Given the description of an element on the screen output the (x, y) to click on. 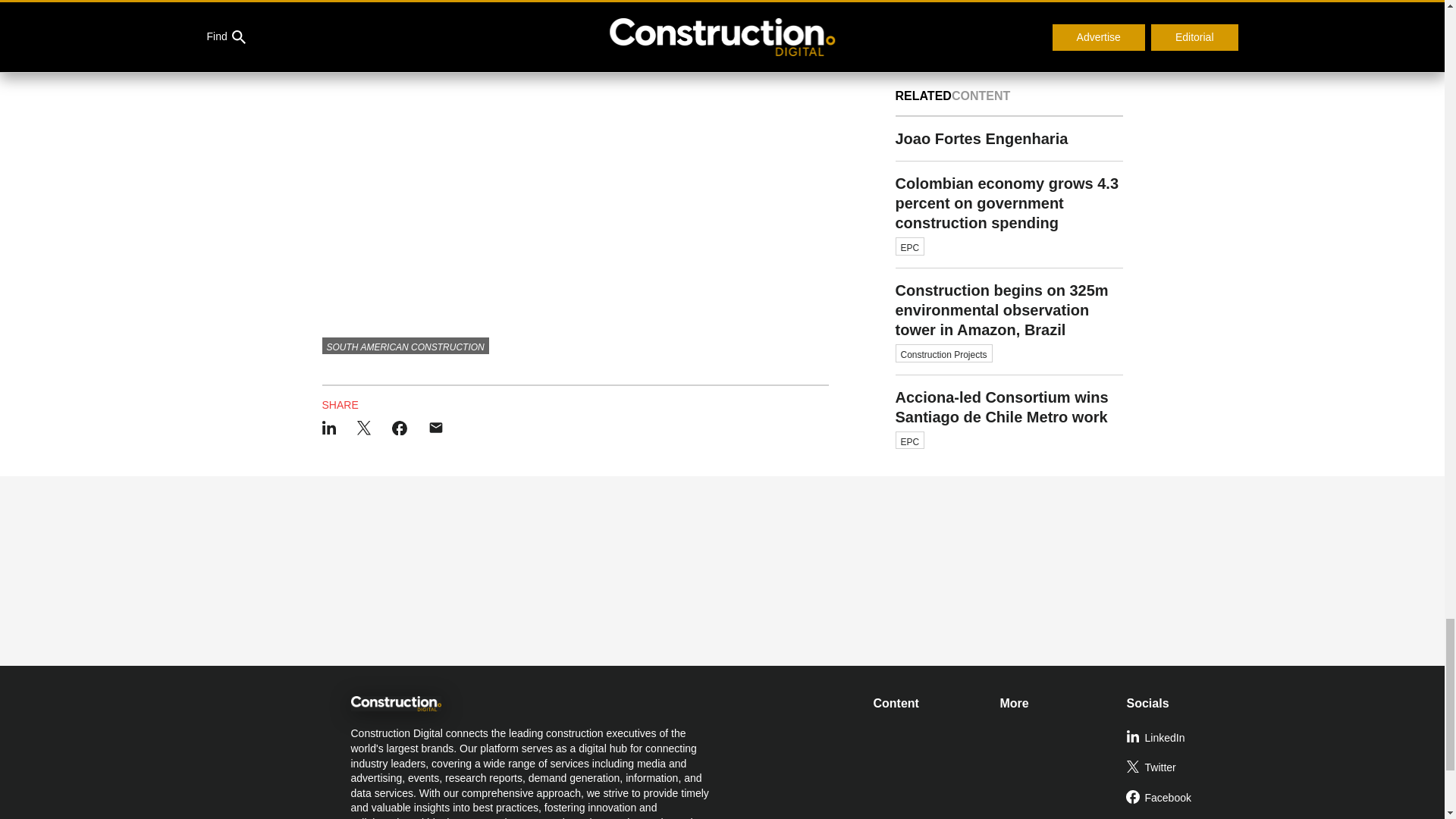
SOUTH AMERICAN CONSTRUCTION (404, 345)
Twitter (1182, 767)
LinkedIn (1182, 738)
Instagram (1182, 816)
Facebook (1182, 798)
